Given the description of an element on the screen output the (x, y) to click on. 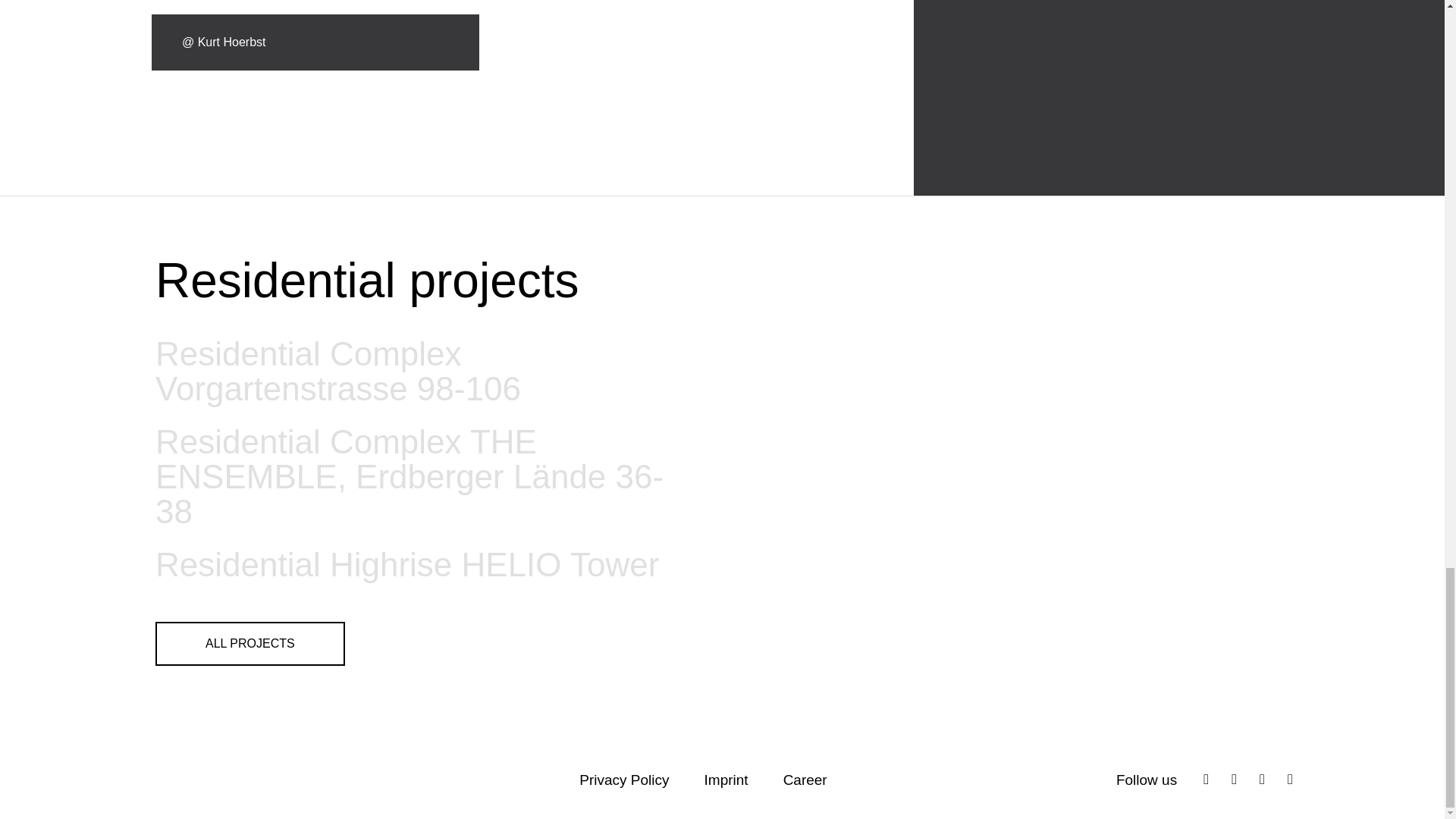
Privacy Policy (623, 780)
Instagram (1206, 779)
YouTube (1289, 779)
Pinterest (1262, 779)
Career (805, 780)
Imprint (726, 780)
Residential Complex Vorgartenstrasse 98-106 (413, 371)
Residential Highrise HELIO Tower (407, 564)
LinkedIn (1233, 779)
ALL PROJECTS (250, 643)
